Given the description of an element on the screen output the (x, y) to click on. 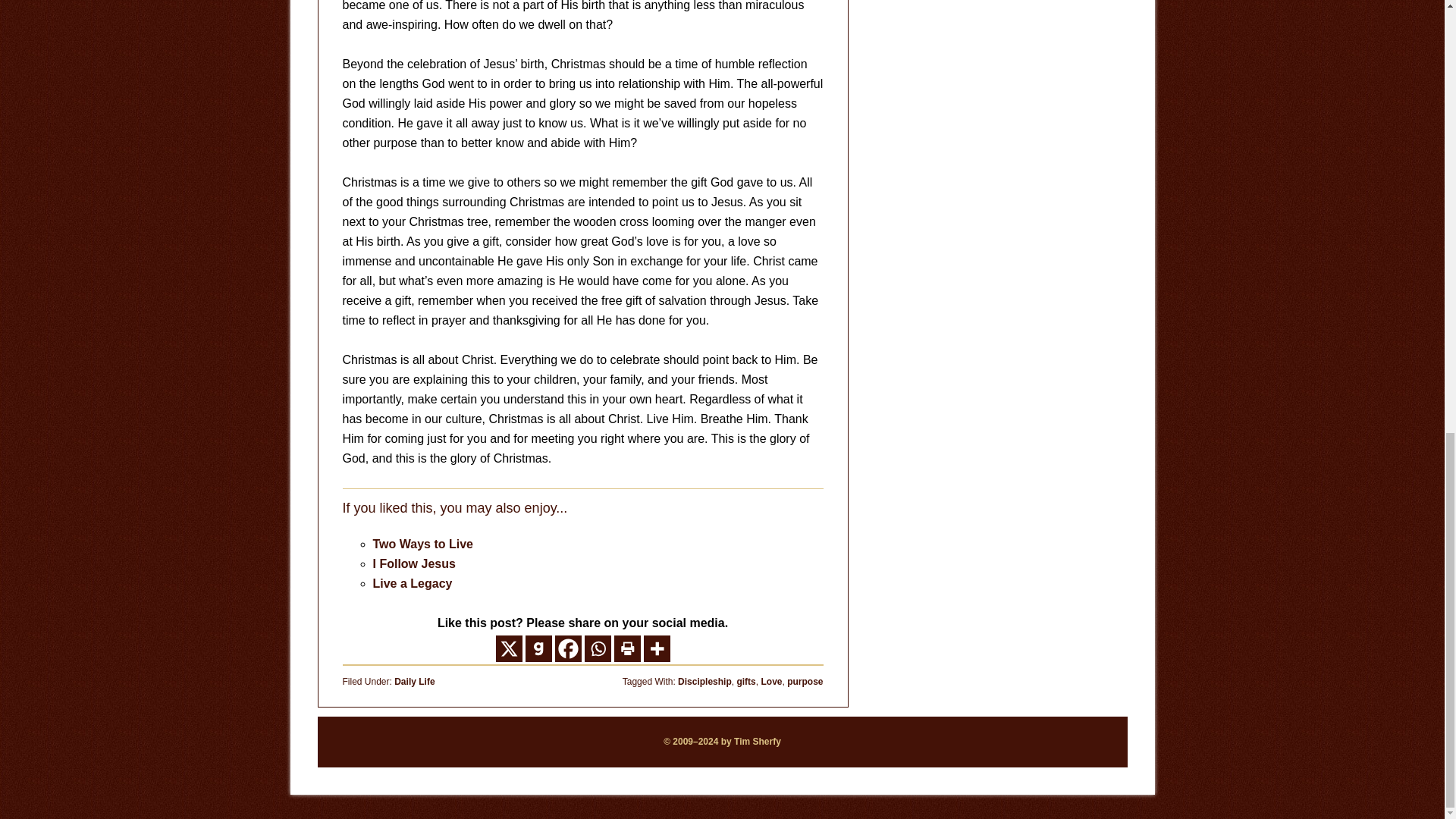
I Follow Jesus (413, 563)
purpose (804, 681)
Two Ways to Live (422, 543)
X (509, 648)
Two Ways to Live (422, 543)
Live a Legacy (412, 583)
Whatsapp (596, 648)
Love (770, 681)
gifts (745, 681)
I Follow Jesus (413, 563)
